Given the description of an element on the screen output the (x, y) to click on. 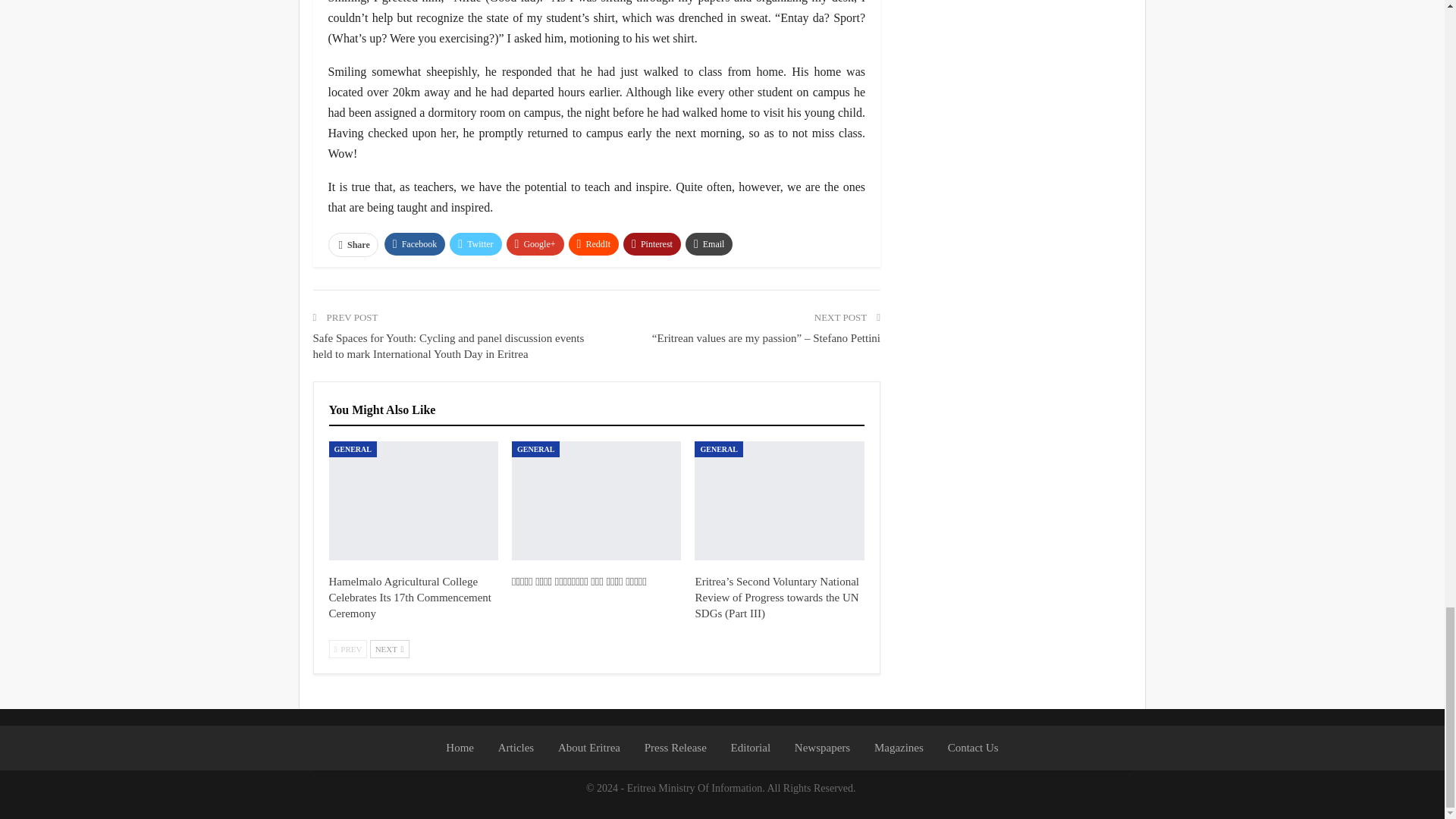
Previous (348, 648)
Next (389, 648)
